Given the description of an element on the screen output the (x, y) to click on. 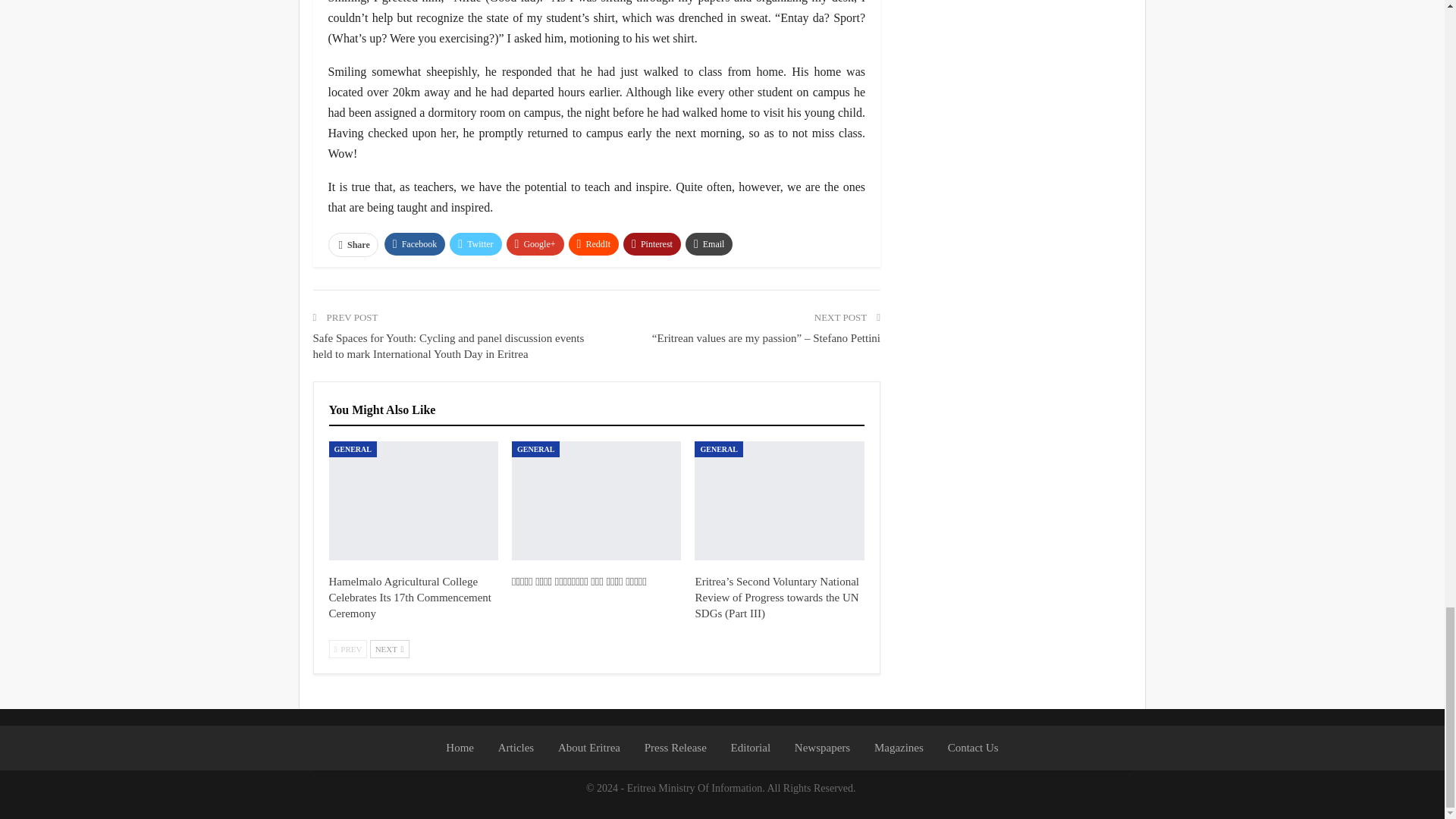
Previous (348, 648)
Next (389, 648)
